Given the description of an element on the screen output the (x, y) to click on. 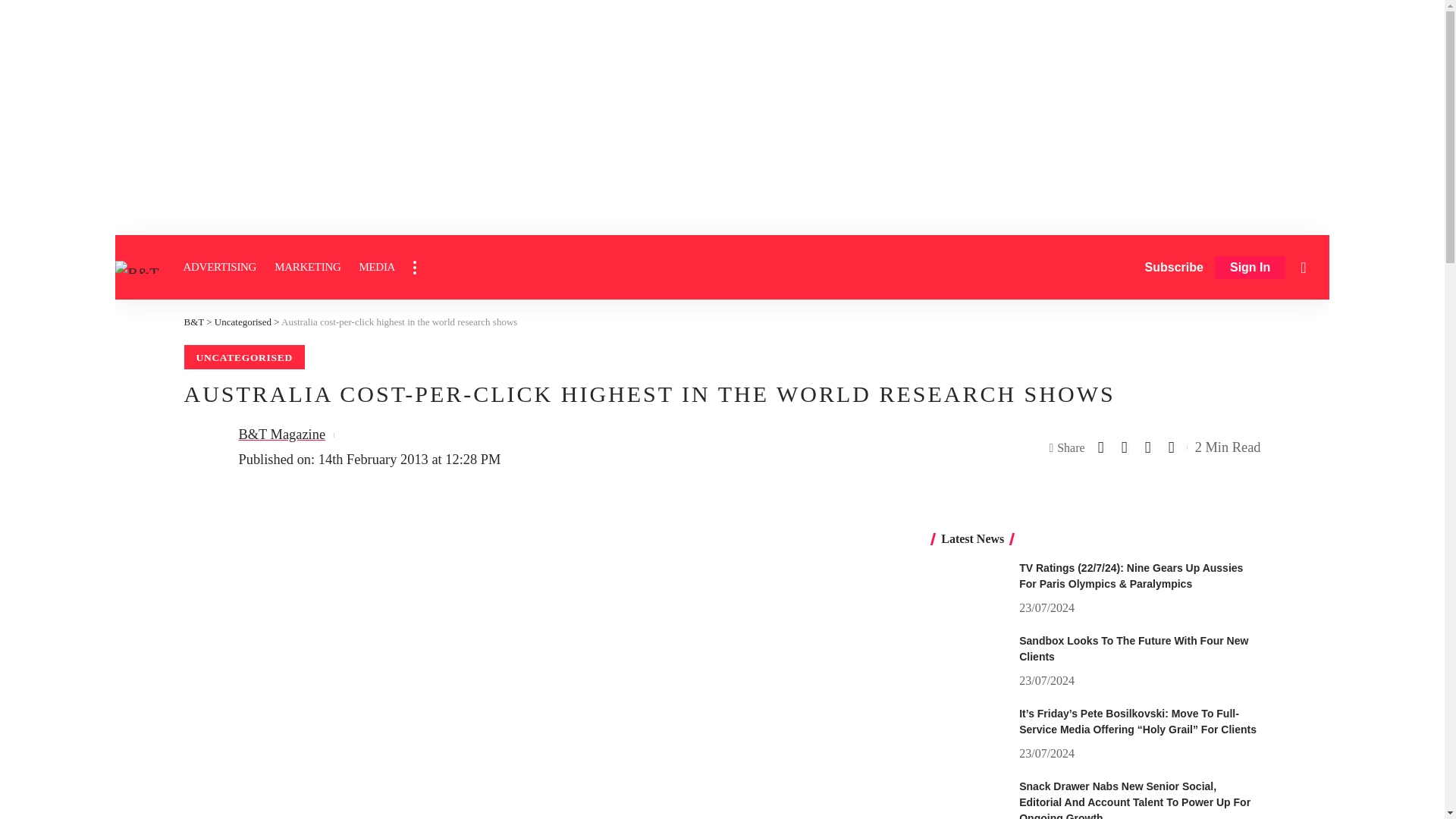
Go to the Uncategorised Category archives. (242, 321)
Subscribe (1174, 267)
ADVERTISING (220, 267)
Sign In (1249, 267)
MEDIA (376, 267)
MARKETING (306, 267)
Sandbox Looks To The Future With Four New Clients (969, 661)
